Given the description of an element on the screen output the (x, y) to click on. 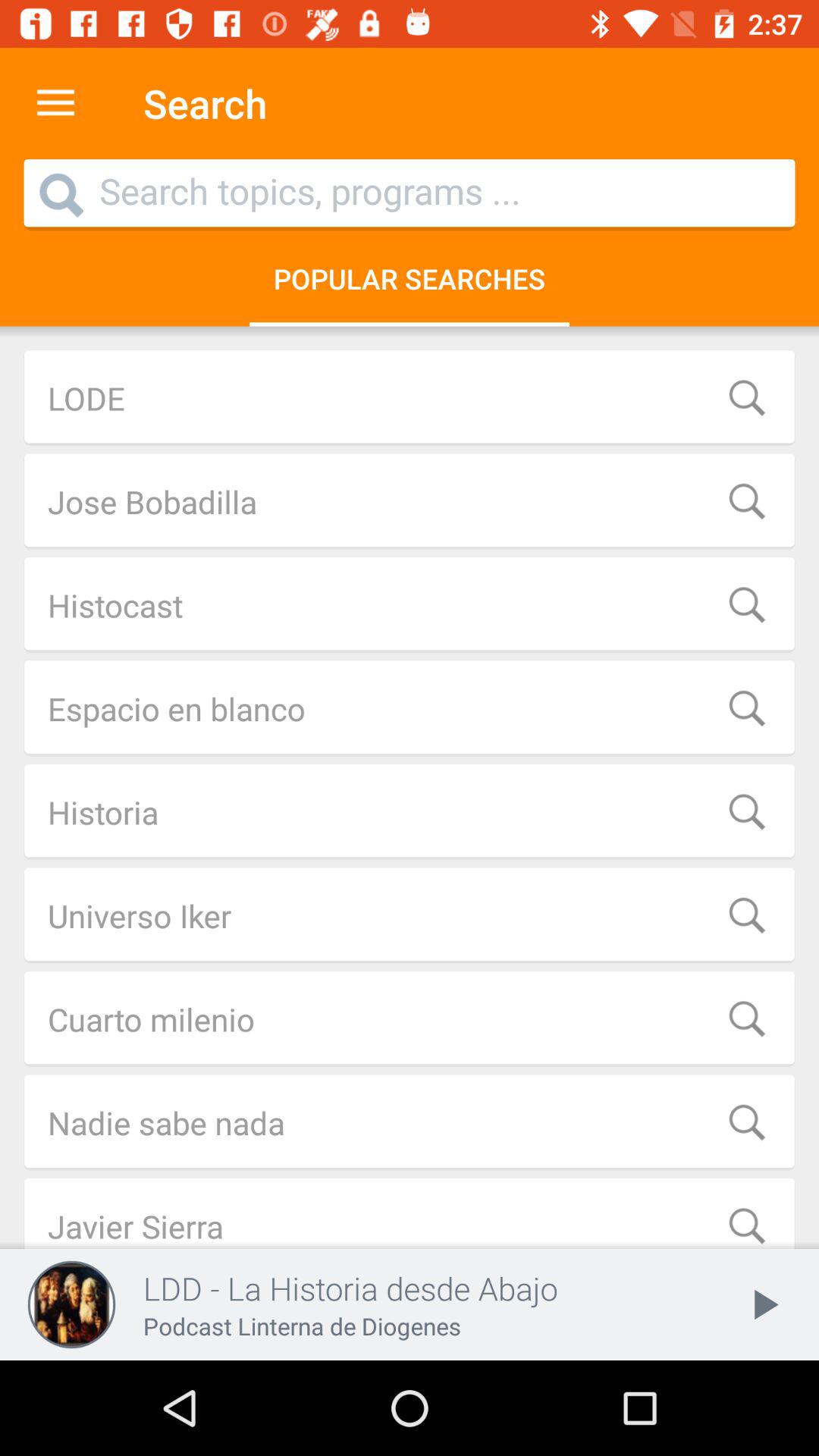
select the icon below the jose bobadilla (409, 604)
